Given the description of an element on the screen output the (x, y) to click on. 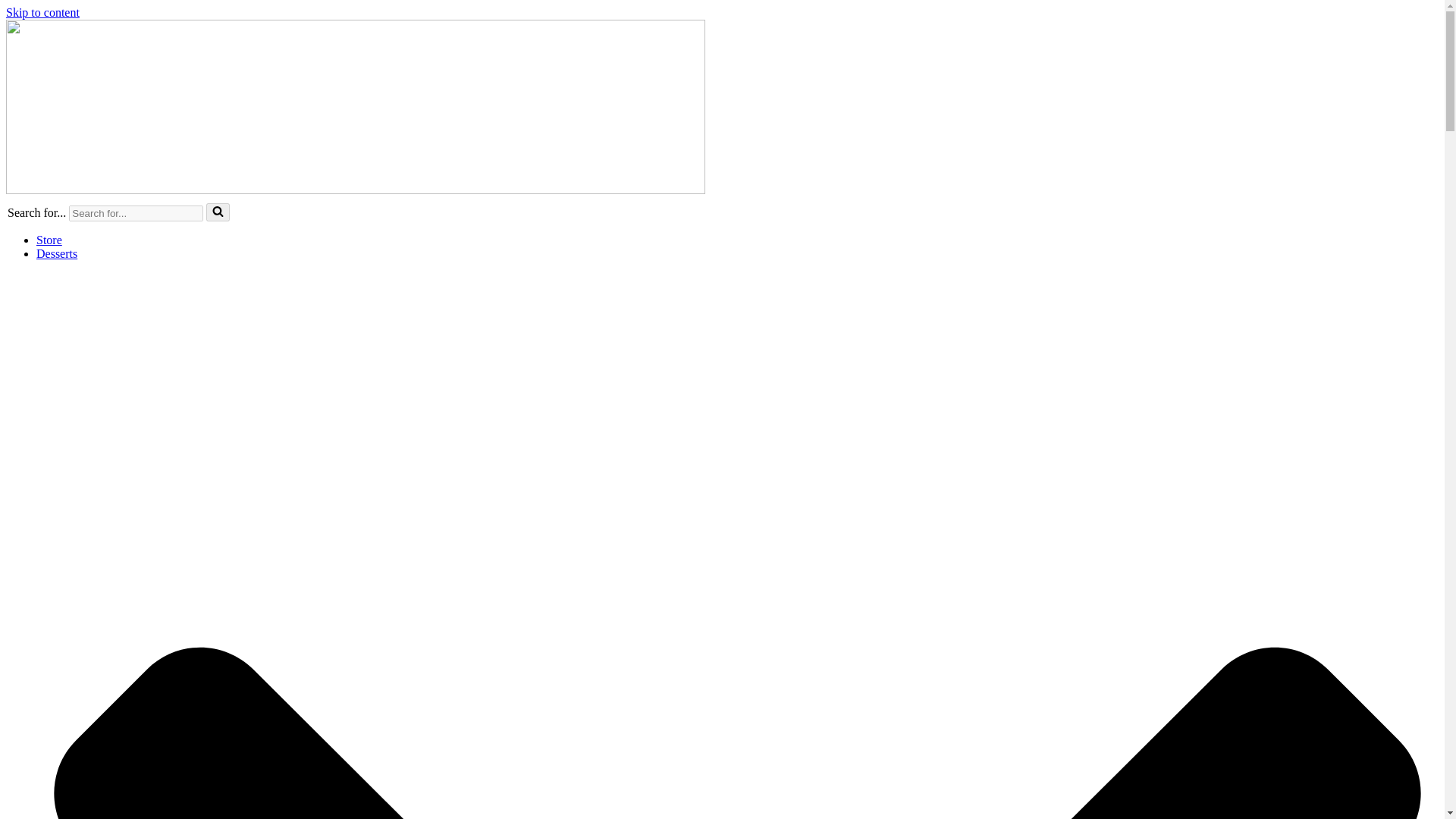
Store (49, 239)
Skip to content (42, 11)
